Given the description of an element on the screen output the (x, y) to click on. 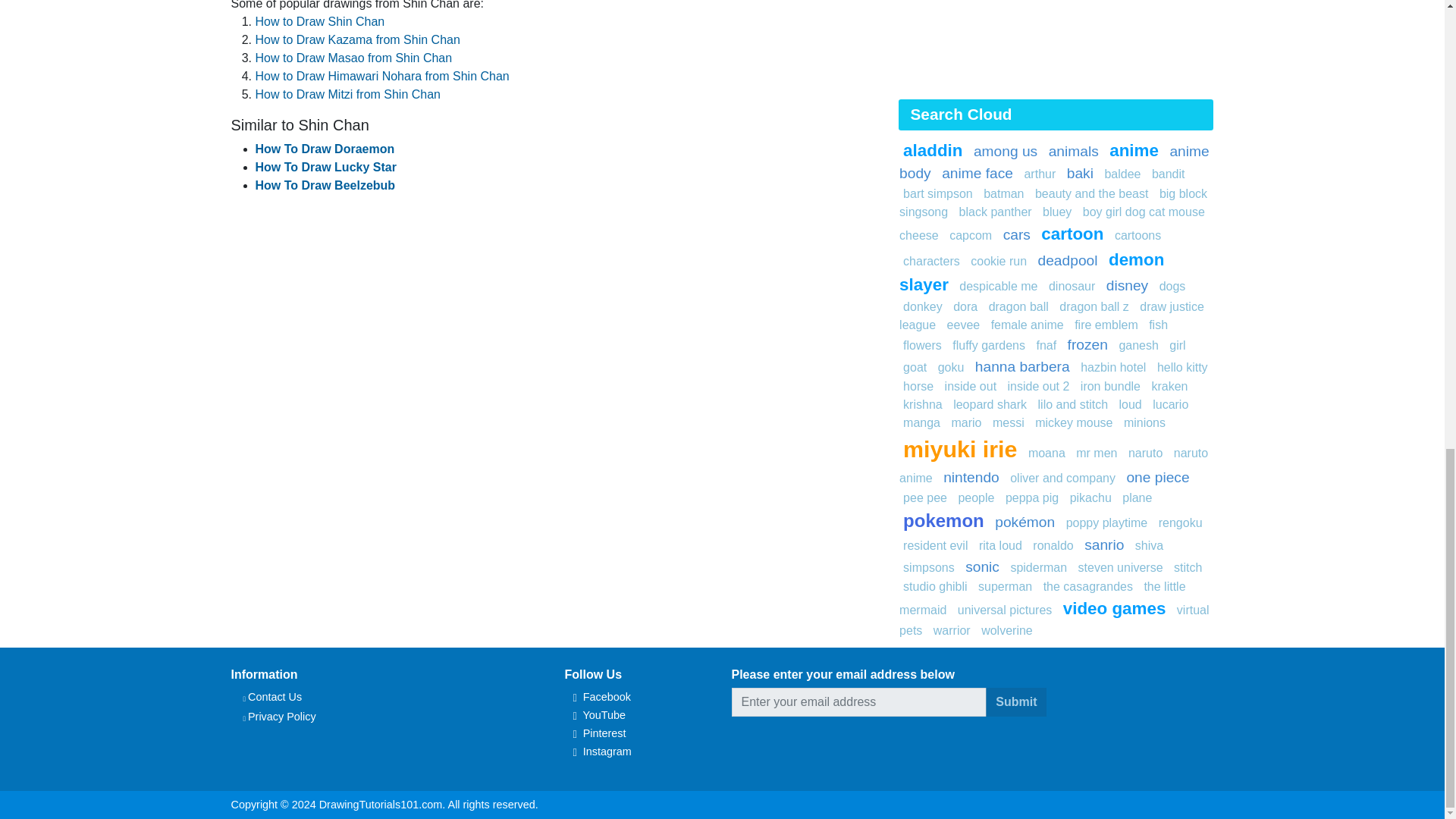
Advertisement (1055, 46)
